Given the description of an element on the screen output the (x, y) to click on. 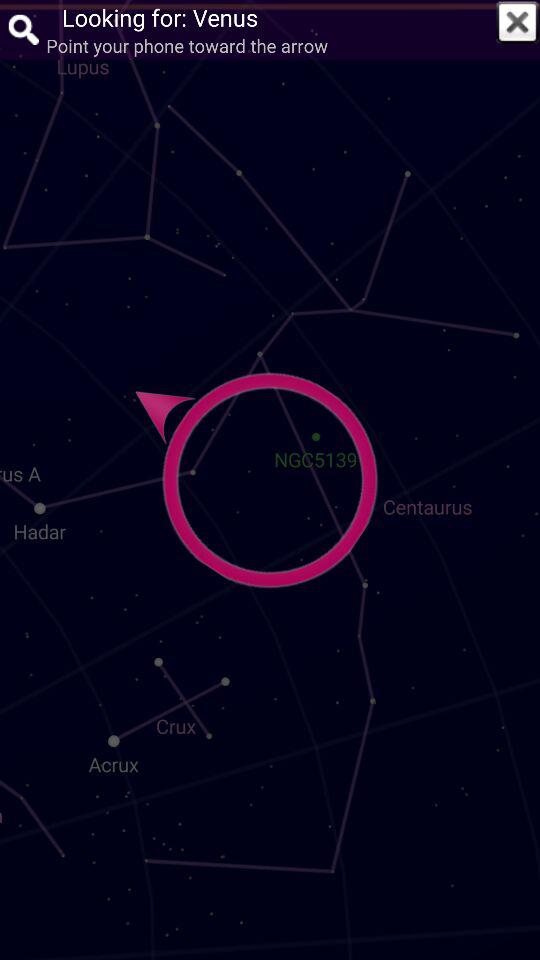
to click close button to close the page (517, 22)
